Given the description of an element on the screen output the (x, y) to click on. 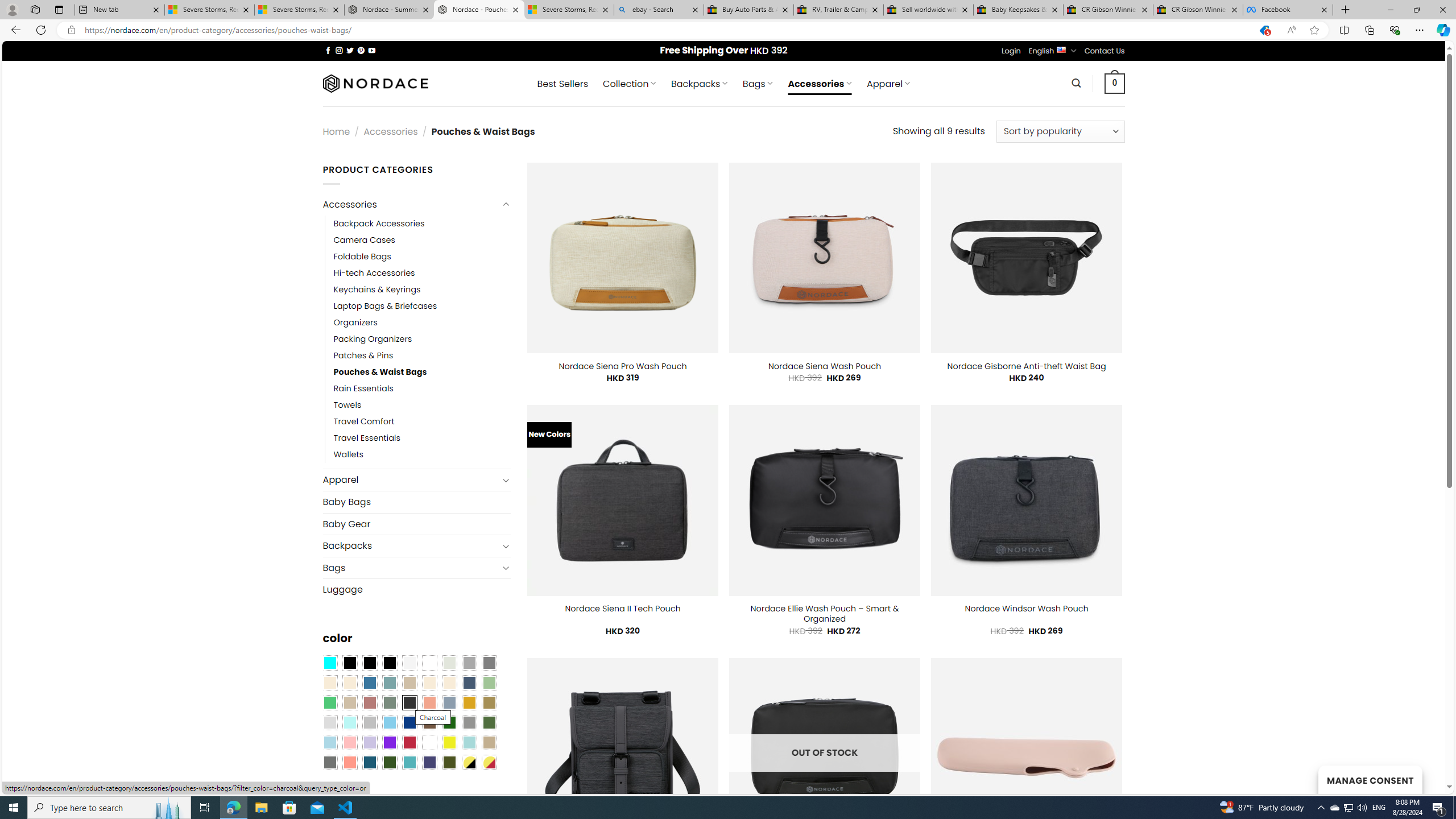
Hi-tech Accessories (422, 272)
Gold (468, 702)
White (429, 741)
Wallets (422, 454)
Caramel (429, 681)
Clear (429, 662)
Dark Gray (468, 662)
Facebook (1287, 9)
